Given the description of an element on the screen output the (x, y) to click on. 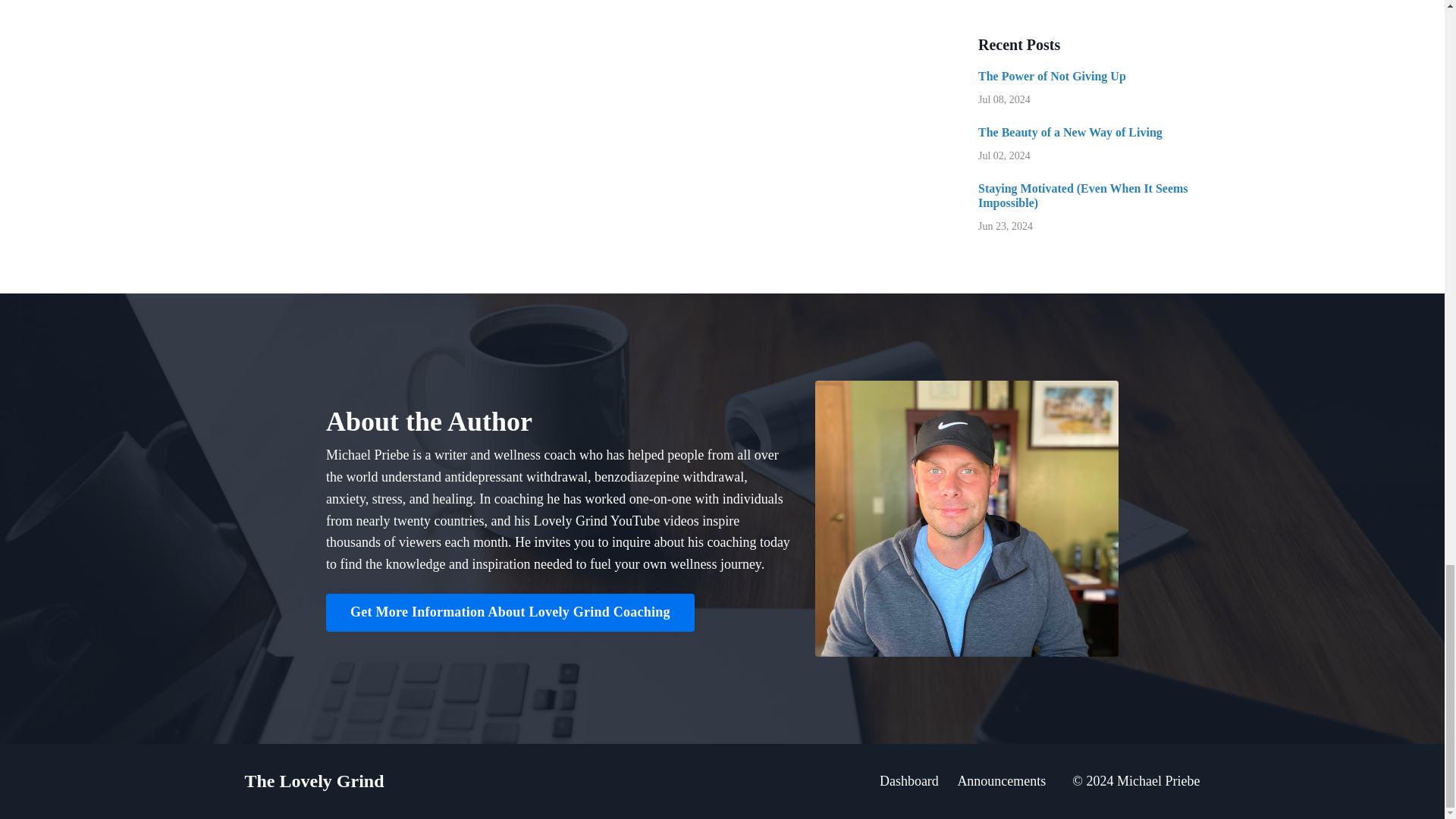
The Power of Not Giving Up (1088, 75)
The Beauty of a New Way of Living (1088, 132)
Announcements (1000, 780)
Dashboard (909, 780)
The Lovely Grind (314, 781)
Get More Information About Lovely Grind Coaching (510, 612)
